Given the description of an element on the screen output the (x, y) to click on. 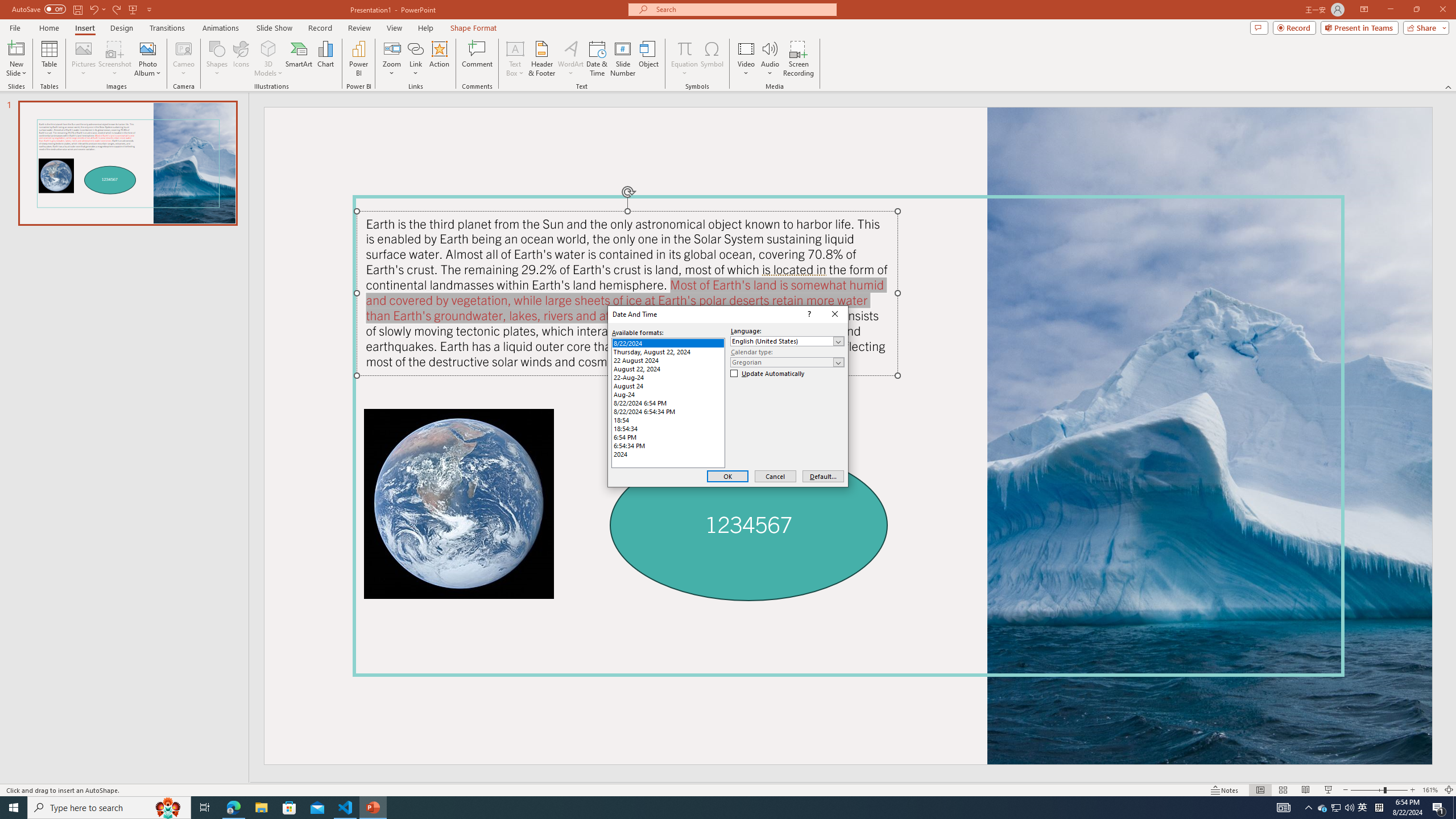
Icons (240, 58)
Comment (476, 58)
Table (49, 58)
Object... (649, 58)
